Given the description of an element on the screen output the (x, y) to click on. 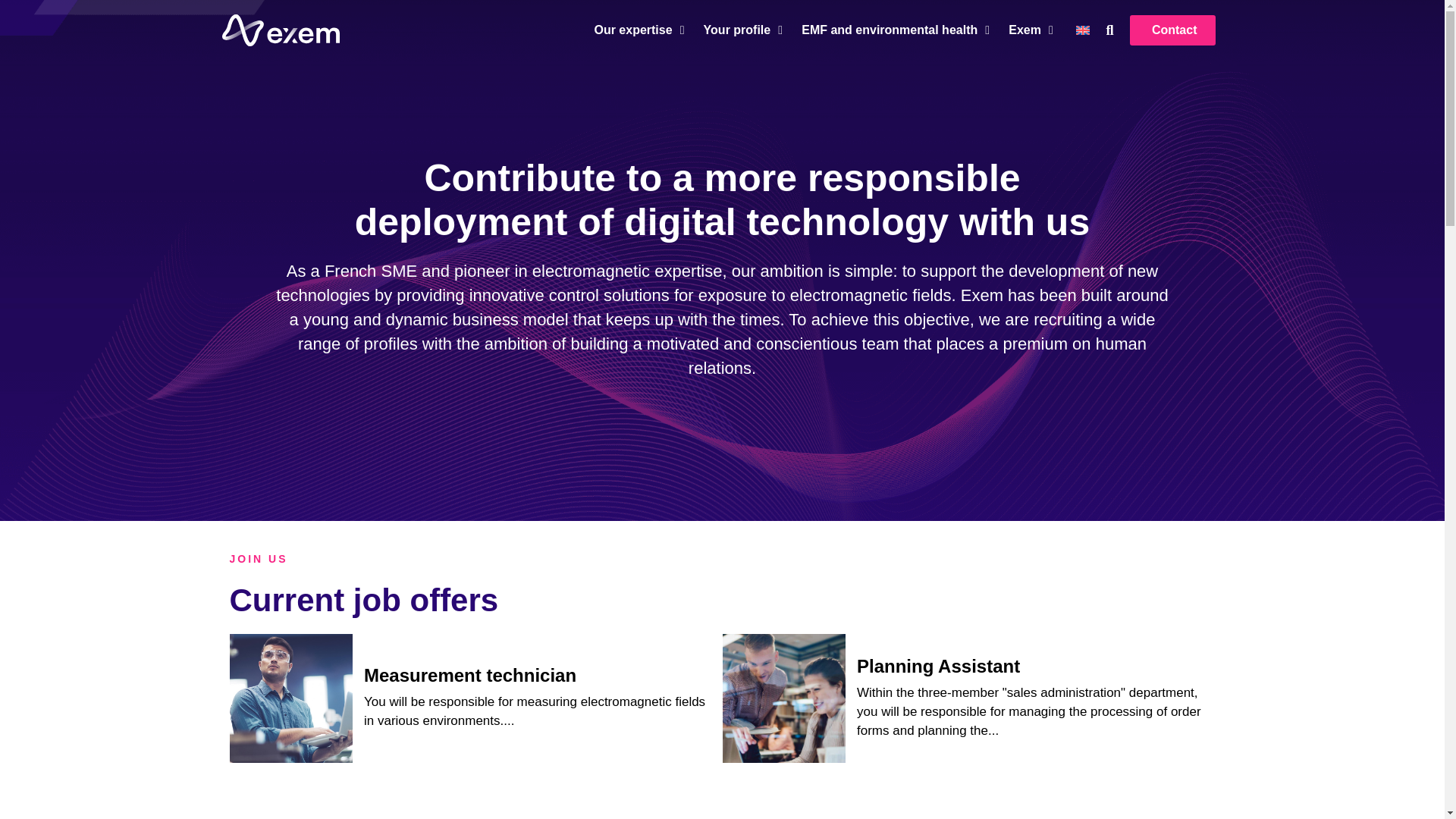
EMF and environmental health (889, 30)
Our expertise (632, 30)
Exem (1025, 30)
Your profile (737, 30)
